Given the description of an element on the screen output the (x, y) to click on. 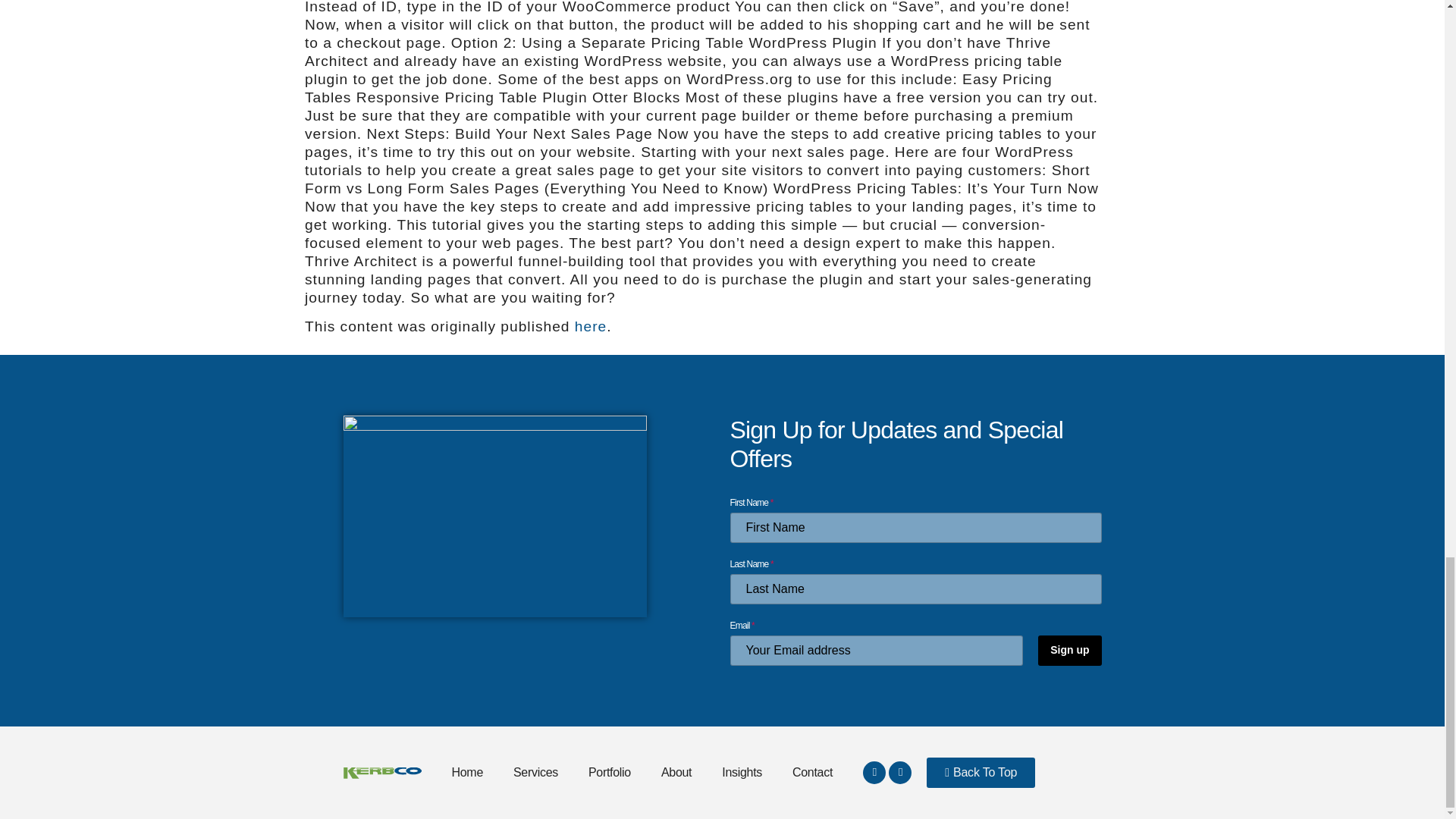
Services (535, 772)
Sign up (1069, 650)
Home (466, 772)
Contact (812, 772)
Back To Top (980, 772)
Portfolio (609, 772)
About (676, 772)
here (591, 326)
Insights (741, 772)
